Given the description of an element on the screen output the (x, y) to click on. 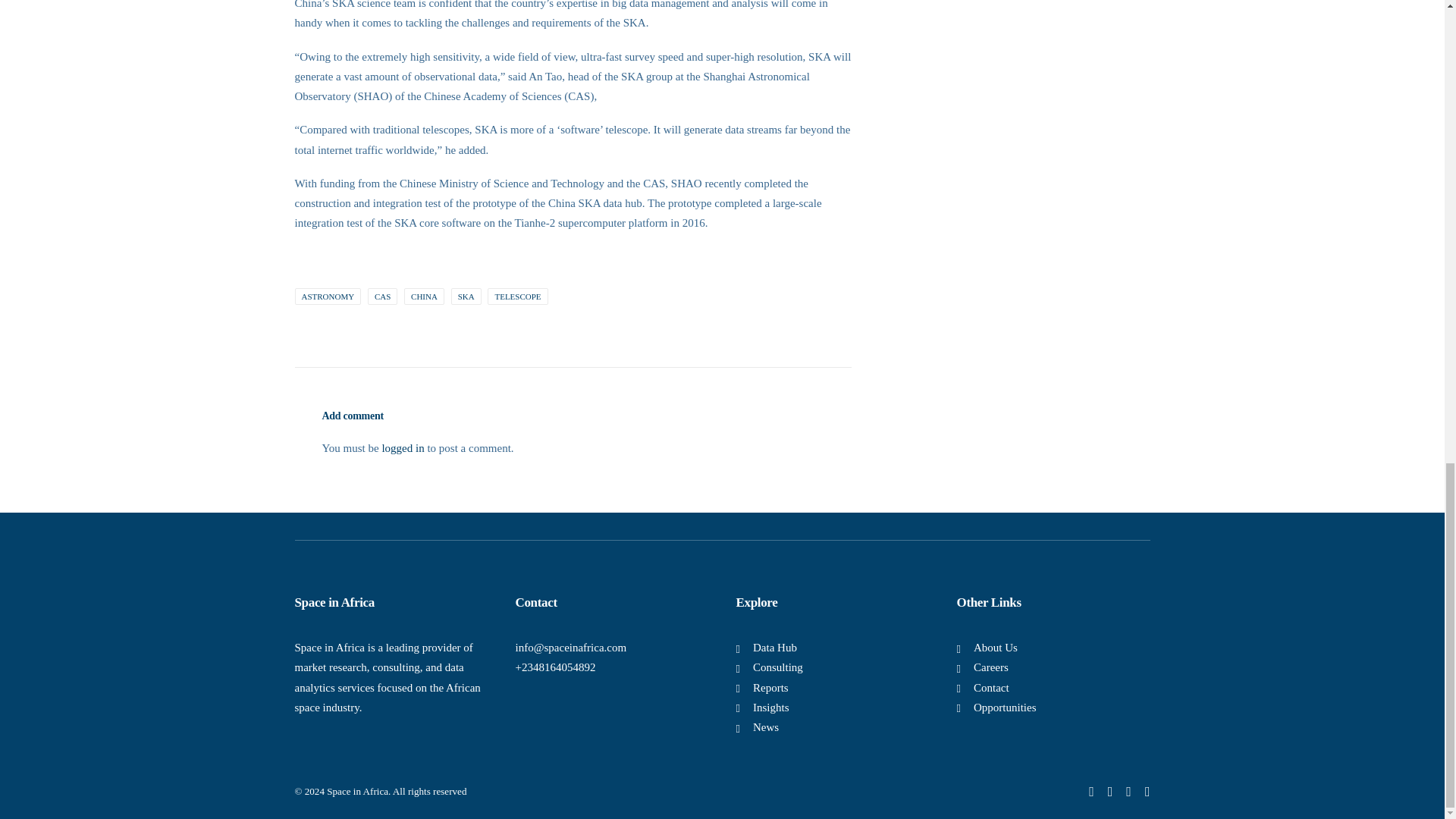
CAS (382, 296)
ASTRONOMY (327, 296)
SKA (466, 296)
CHINA (424, 296)
logged in (402, 447)
TELESCOPE (517, 296)
Data Hub (774, 647)
